Given the description of an element on the screen output the (x, y) to click on. 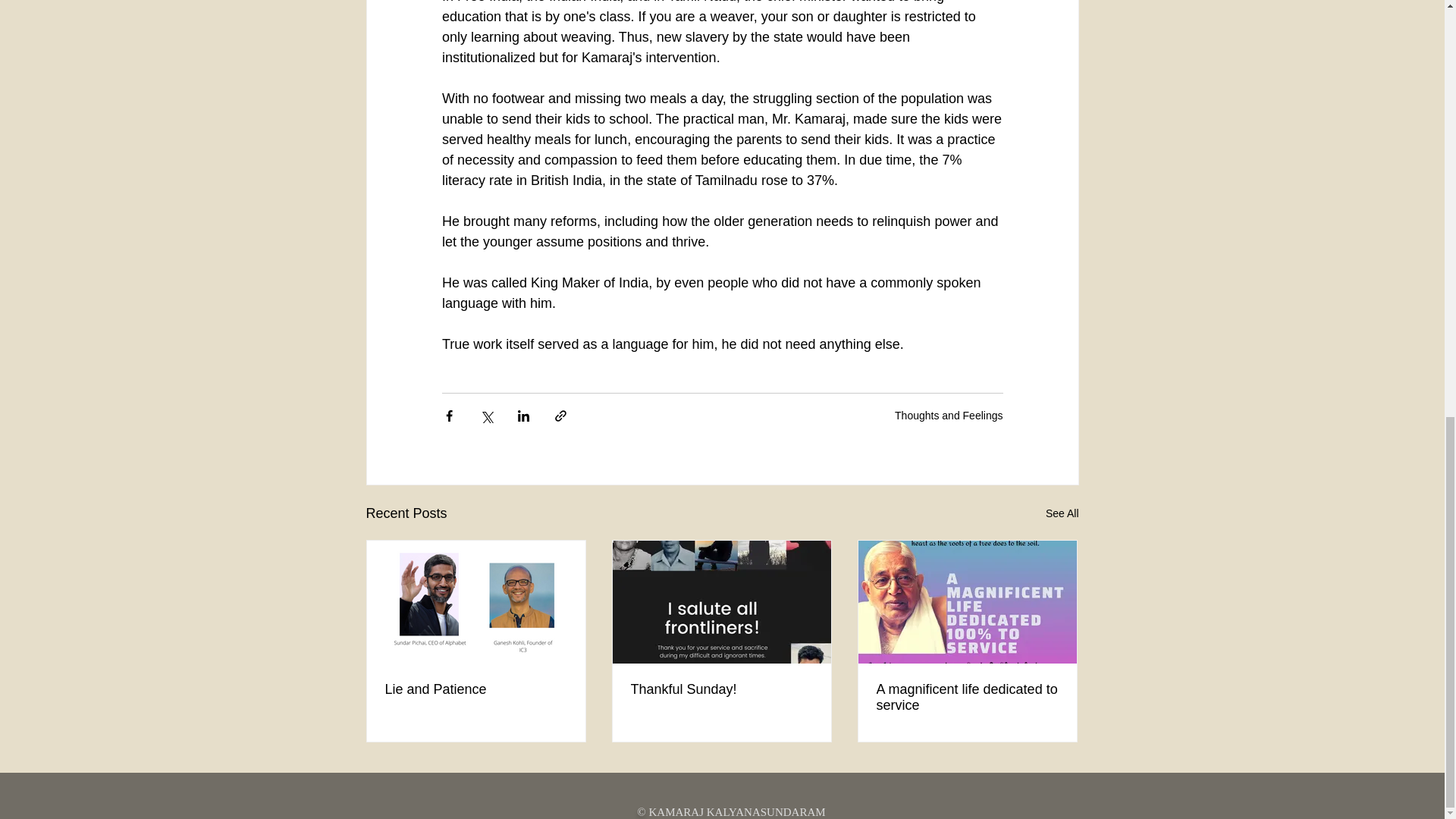
Thankful Sunday! (721, 689)
A magnificent life dedicated to service (967, 697)
Lie and Patience (476, 689)
Thoughts and Feelings (949, 415)
See All (1061, 513)
